Given the description of an element on the screen output the (x, y) to click on. 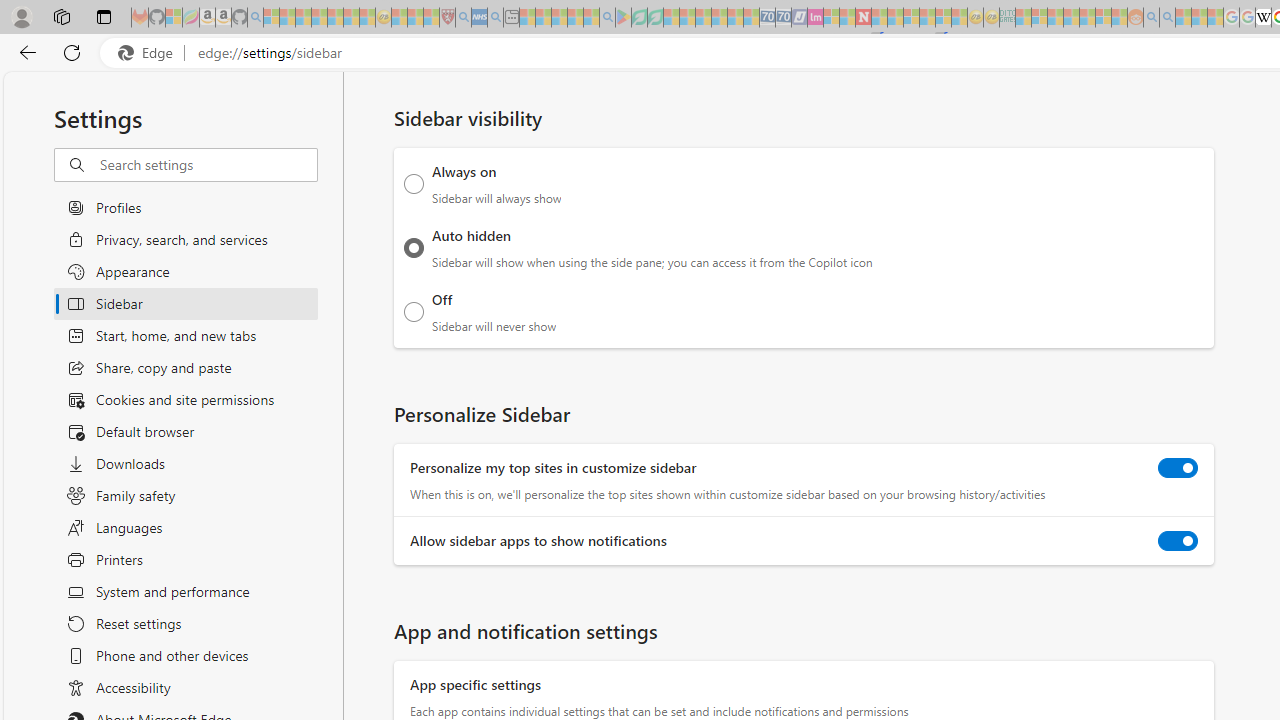
Search settings (207, 165)
Expert Portfolios - Sleeping (1071, 17)
Pets - MSN - Sleeping (575, 17)
Bluey: Let's Play! - Apps on Google Play - Sleeping (623, 17)
Jobs - lastminute.com Investor Portal - Sleeping (815, 17)
